Given the description of an element on the screen output the (x, y) to click on. 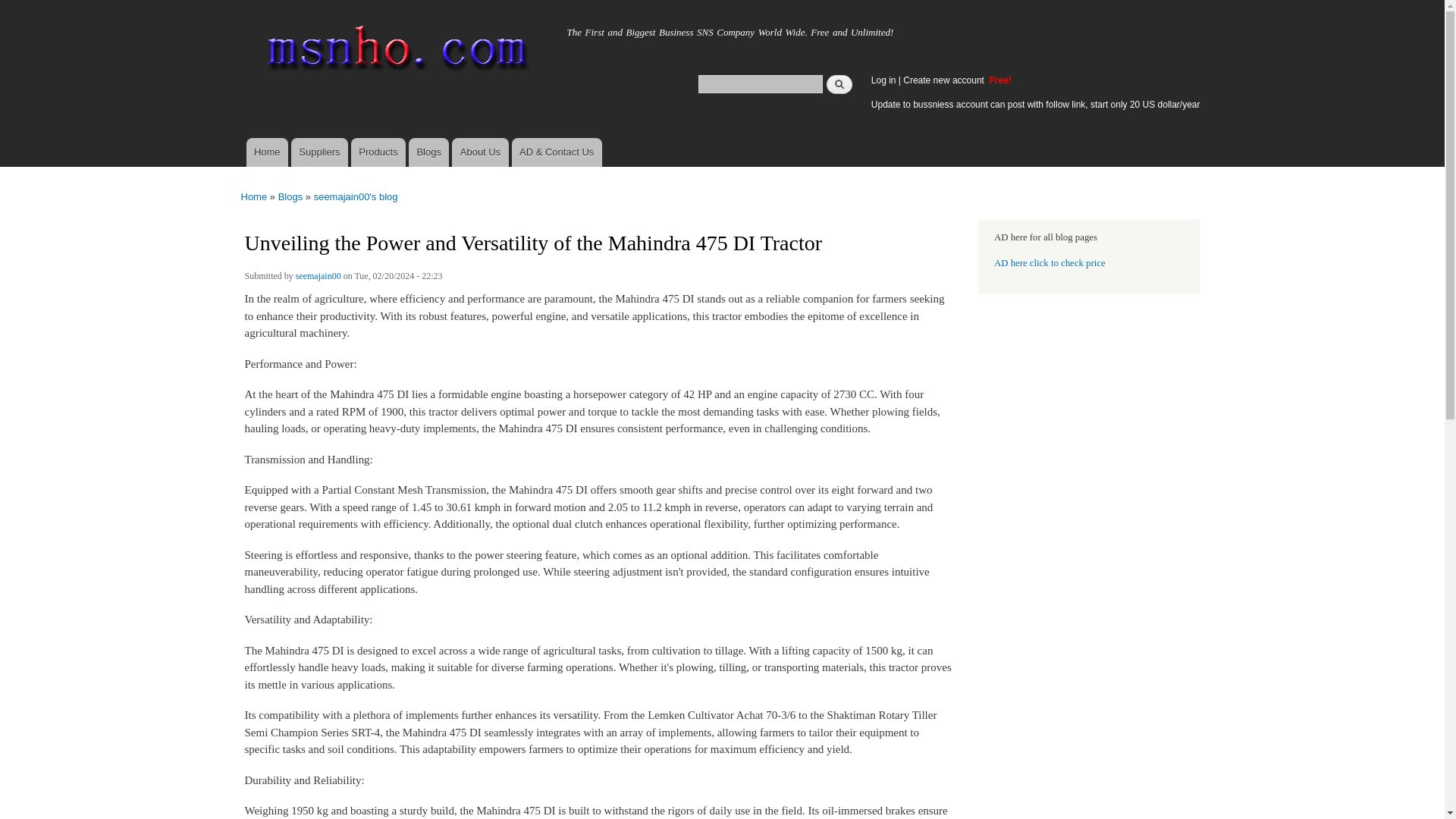
msnho.com (282, 28)
Home (394, 51)
About Us (479, 152)
Suppliers (319, 152)
Home (282, 28)
Products,if need post product, contact to our AD department (378, 152)
Log in (883, 79)
Enter the terms you wish to search for. (760, 83)
View user profile. (317, 277)
Products (378, 152)
About us (479, 152)
Contact us (557, 152)
seemajain00 (317, 277)
Skip to main content (690, 1)
Search (839, 83)
